Given the description of an element on the screen output the (x, y) to click on. 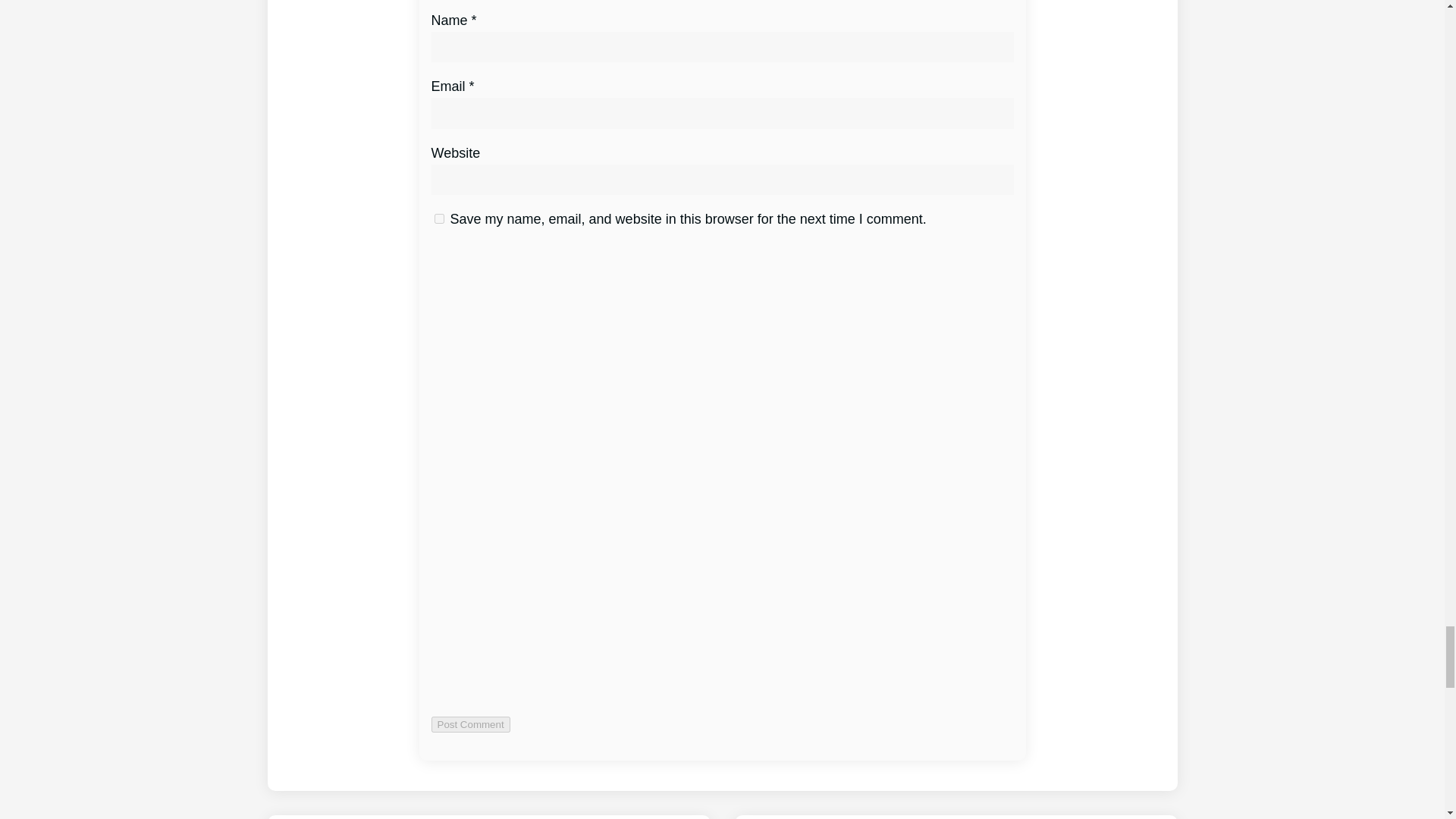
yes (438, 218)
Post Comment (469, 724)
Post Comment (469, 724)
